Given the description of an element on the screen output the (x, y) to click on. 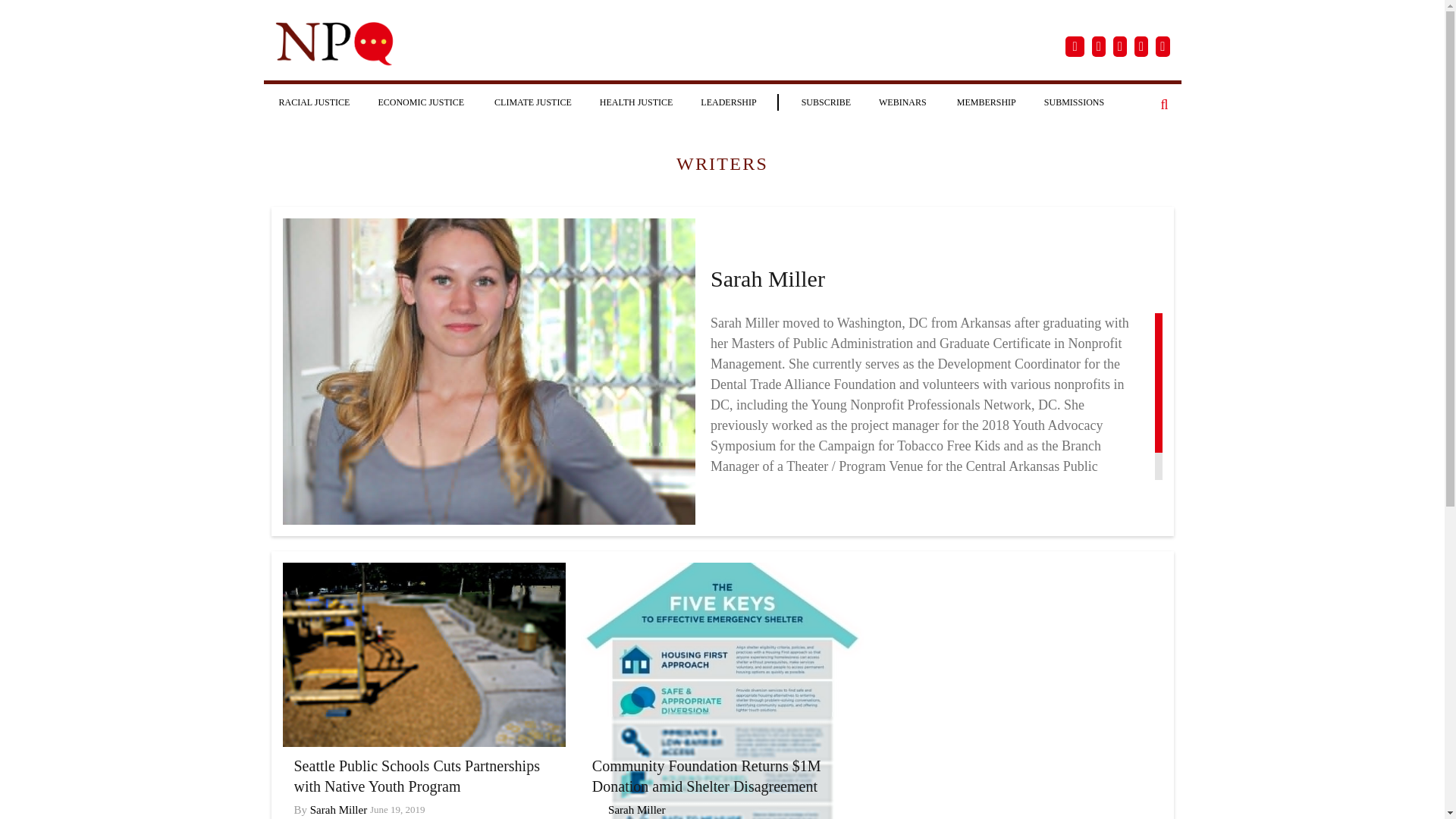
Posts by Sarah Miller (636, 809)
Sarah Miller (636, 809)
Search (1164, 104)
Sarah Miller (338, 809)
Submissions (1074, 102)
SUBSCRIBE (826, 102)
CLIMATE JUSTICE (532, 102)
SUBMISSIONS (1074, 102)
ECONOMIC JUSTICE (421, 102)
RACIAL JUSTICE (314, 102)
Membership (986, 102)
Leadership (727, 102)
WEBINARS (903, 102)
Health Justice (636, 102)
